Given the description of an element on the screen output the (x, y) to click on. 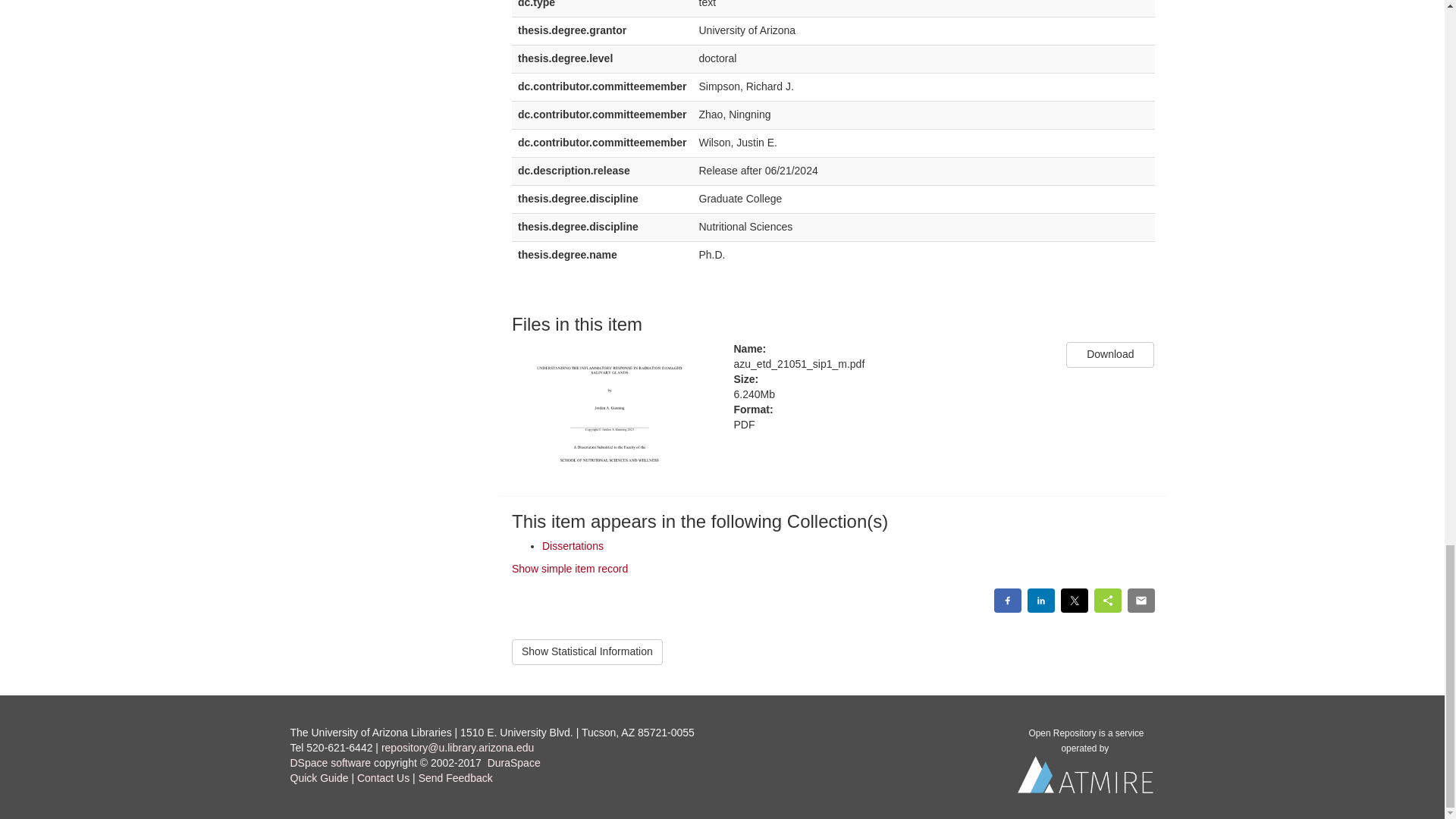
Atmire NV (1085, 779)
